Given the description of an element on the screen output the (x, y) to click on. 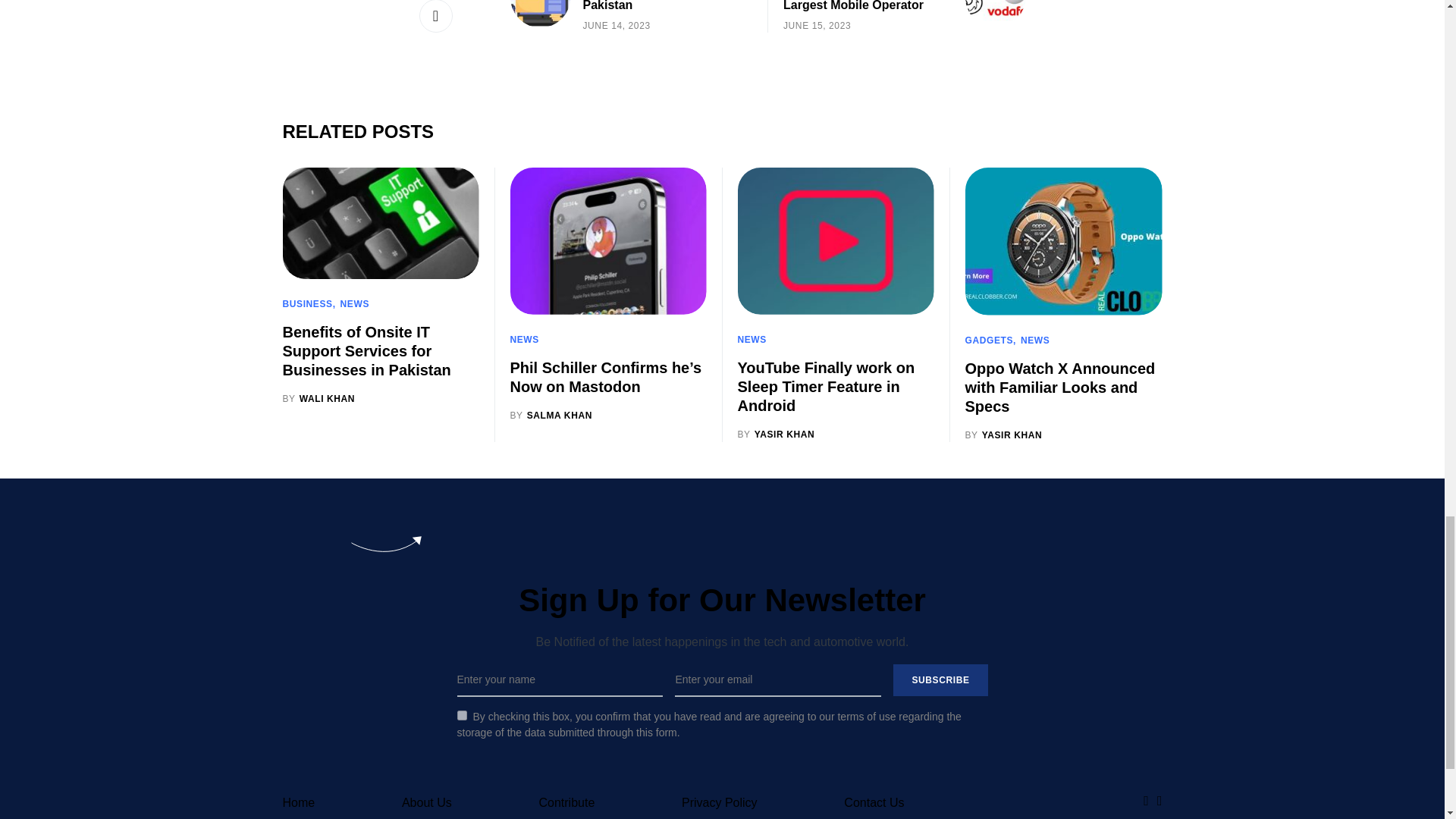
View all posts by Wali Khan (318, 398)
View all posts by Yasir Khan (1002, 434)
on (461, 715)
View all posts by Salma Khan (550, 415)
View all posts by Yasir Khan (774, 434)
